Given the description of an element on the screen output the (x, y) to click on. 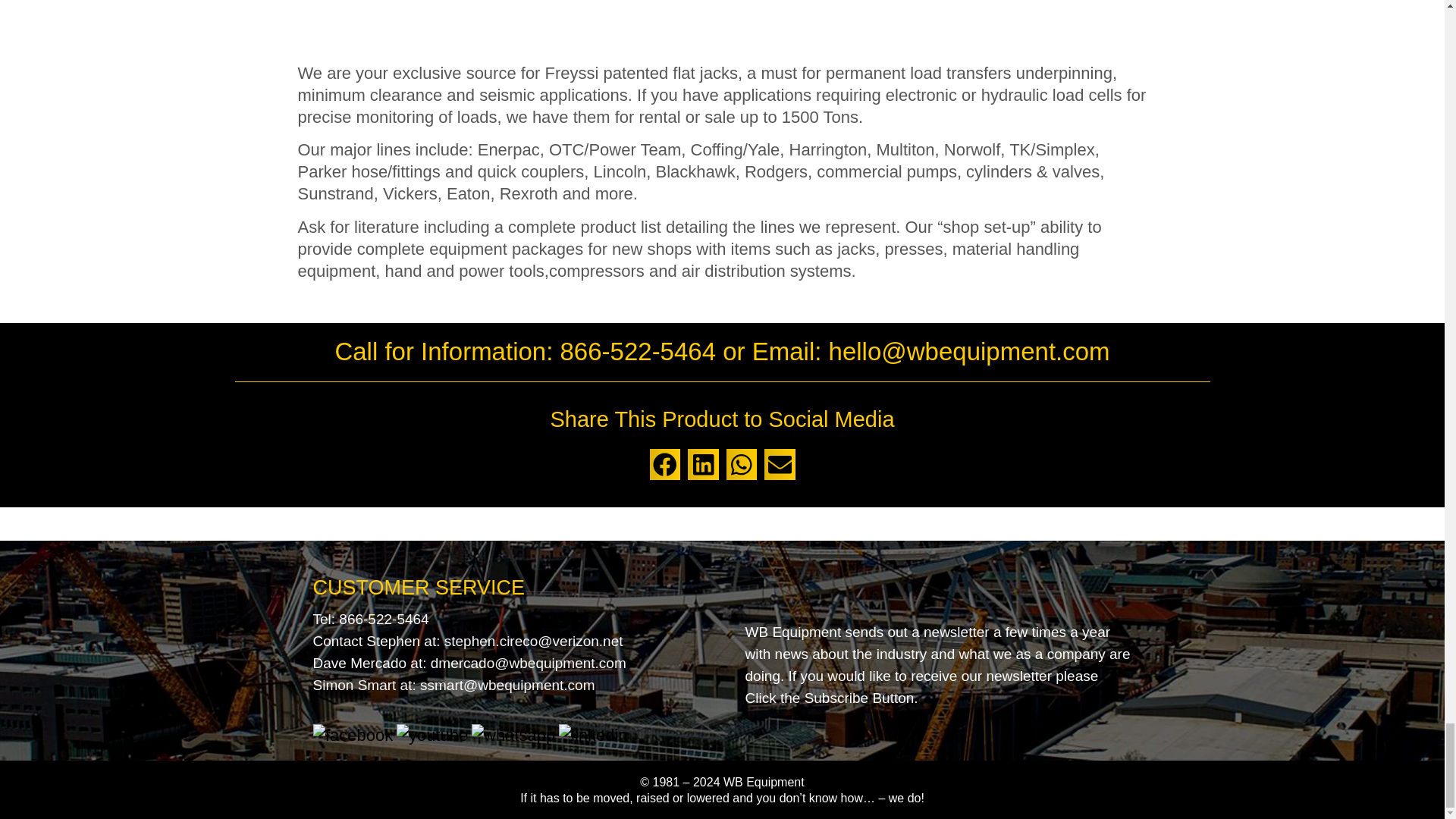
linkedin (593, 734)
youtube (431, 734)
facebook (352, 734)
whatsapp (512, 734)
